Given the description of an element on the screen output the (x, y) to click on. 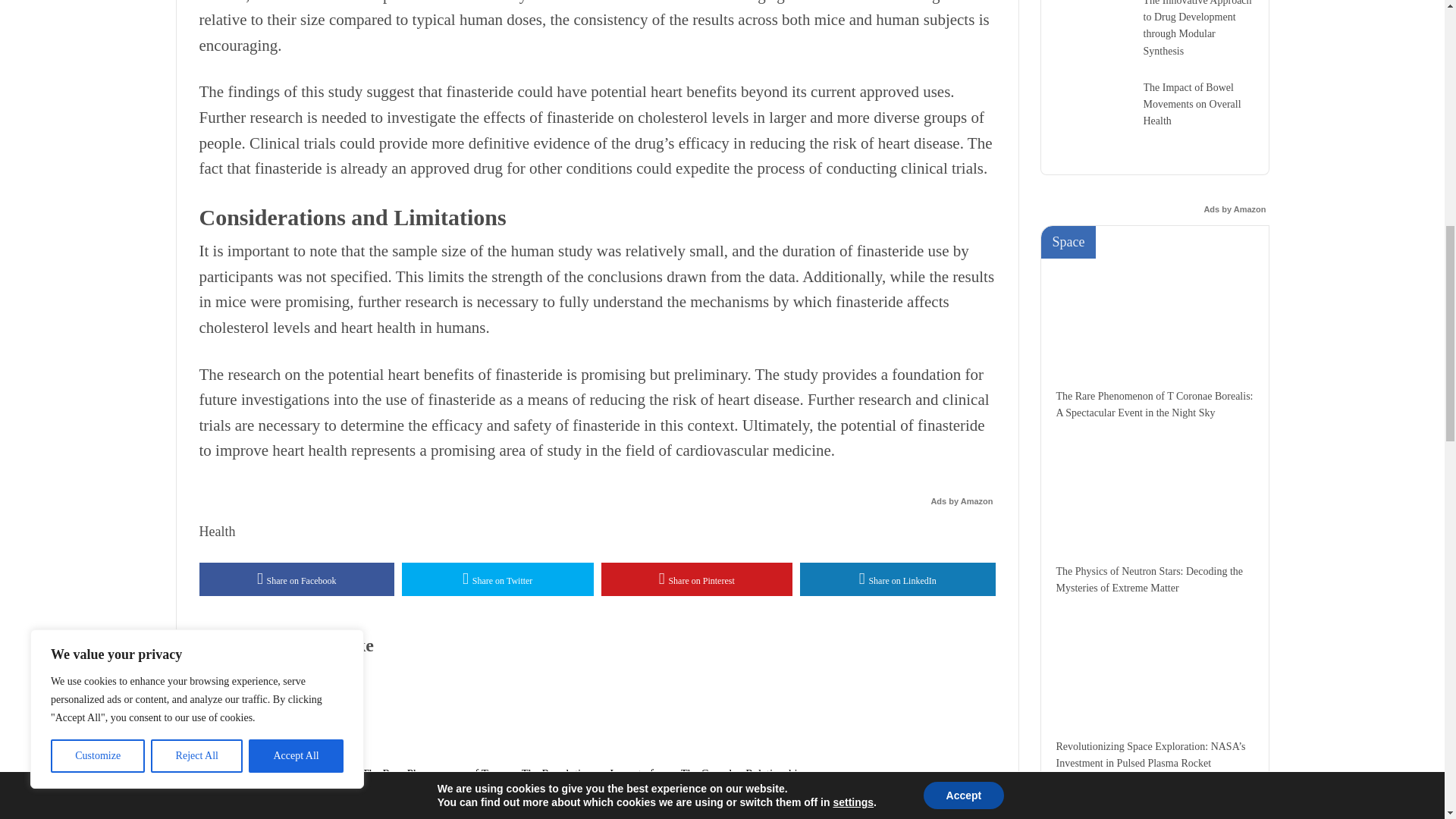
Health (216, 531)
